Given the description of an element on the screen output the (x, y) to click on. 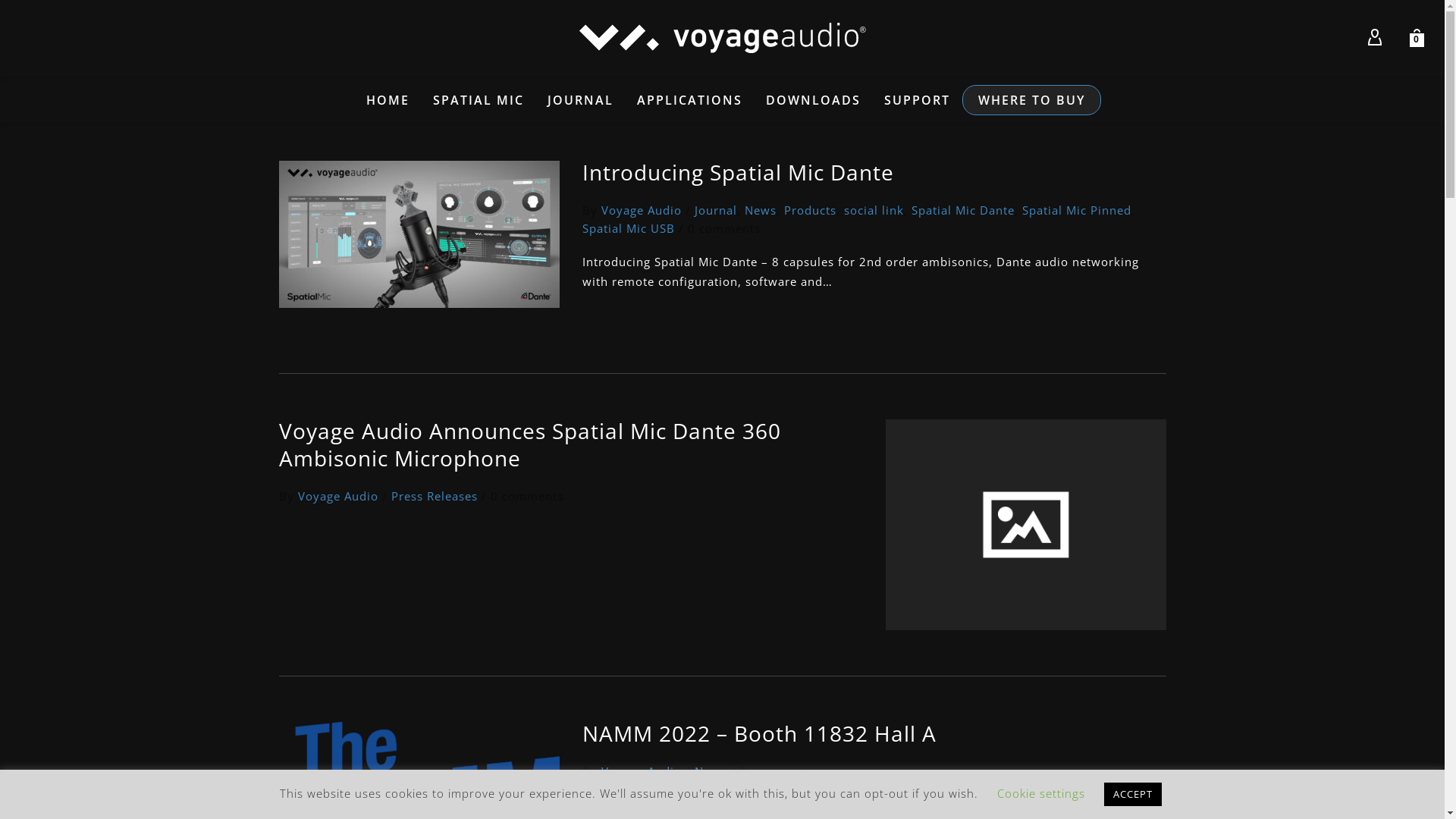
Voyage Audio Element type: text (640, 770)
social link Element type: text (873, 209)
Spatial Mic Pinned Element type: text (1076, 209)
News Element type: text (710, 770)
Spatial Mic USB Element type: text (628, 227)
WHERE TO BUY Element type: text (1031, 99)
ACCEPT Element type: text (1132, 794)
Introducing Spatial Mic Dante Element type: text (738, 171)
Voyage Audio Element type: text (640, 209)
APPLICATIONS Element type: text (689, 99)
News Element type: text (760, 209)
SUPPORT Element type: text (916, 99)
0 Element type: text (1416, 37)
Spatial Mic Dante Element type: text (962, 209)
Press Releases Element type: text (434, 495)
DOWNLOADS Element type: text (813, 99)
Journal Element type: text (715, 209)
Products Element type: text (810, 209)
JOURNAL Element type: text (580, 99)
SPATIAL MIC Element type: text (478, 99)
Voyage Audio Element type: text (337, 495)
Cookie settings Element type: text (1040, 792)
HOME Element type: text (387, 99)
